Given the description of an element on the screen output the (x, y) to click on. 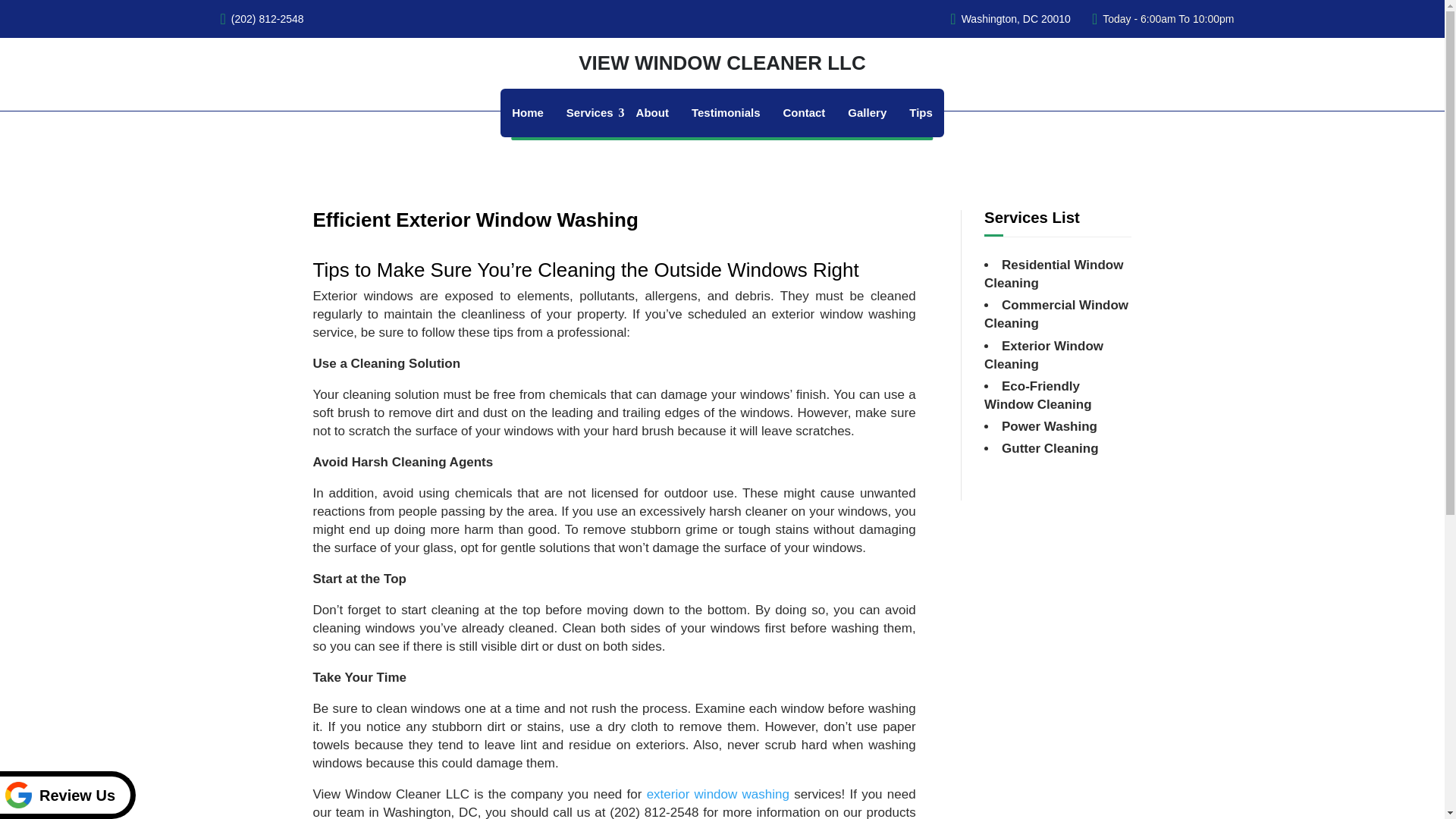
Today - 6:00am To 10:00pm (1167, 18)
Testimonials (725, 112)
exterior window washing (717, 794)
Services (589, 112)
Gallery (866, 112)
Review Us (67, 795)
Home (527, 112)
Tips (920, 112)
VIEW WINDOW CLEANER LLC (722, 62)
About View Window Cleaner LLC's exterior window washing (717, 794)
About (651, 112)
Contact (804, 112)
